Given the description of an element on the screen output the (x, y) to click on. 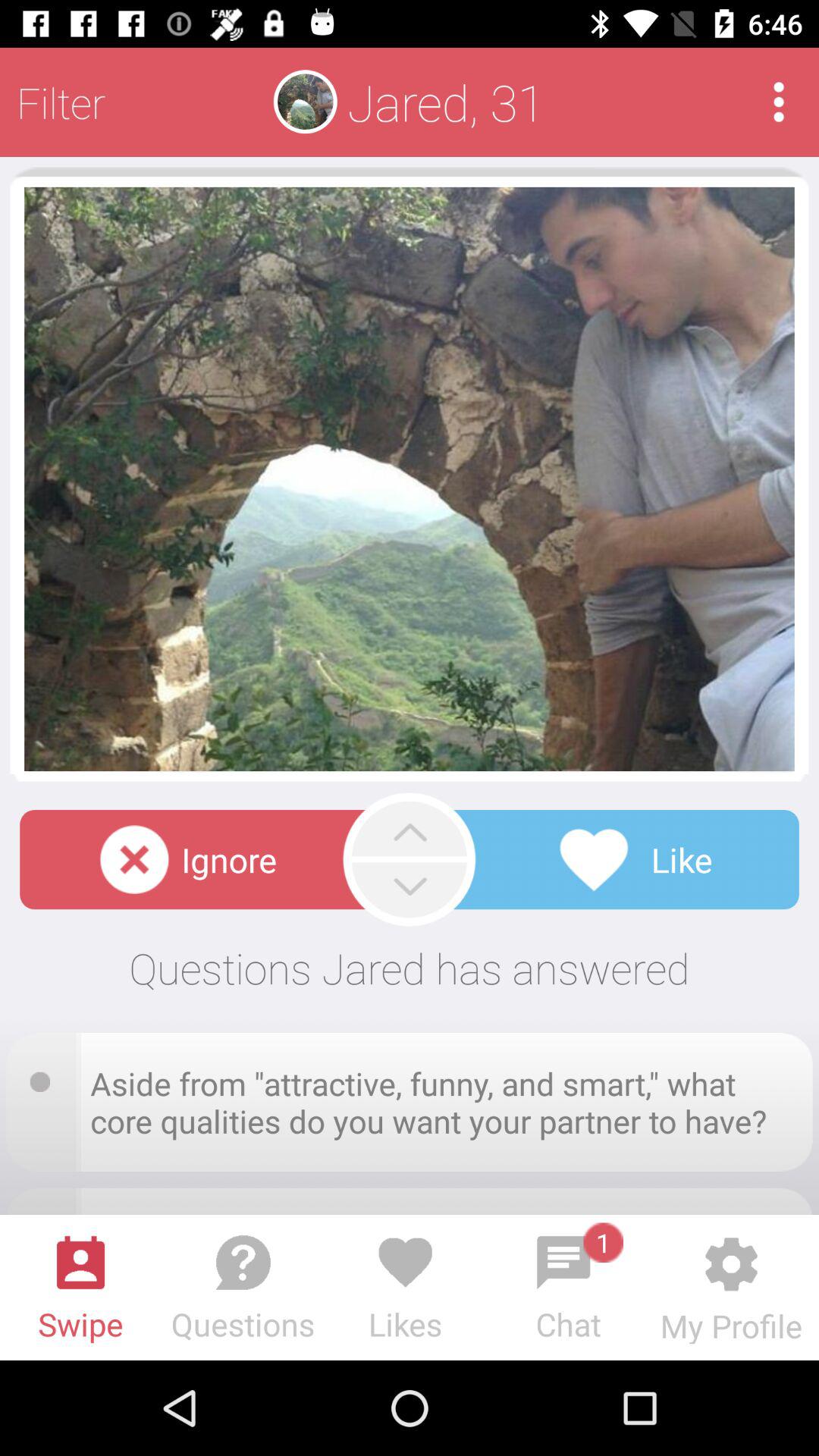
more settings (778, 101)
